Given the description of an element on the screen output the (x, y) to click on. 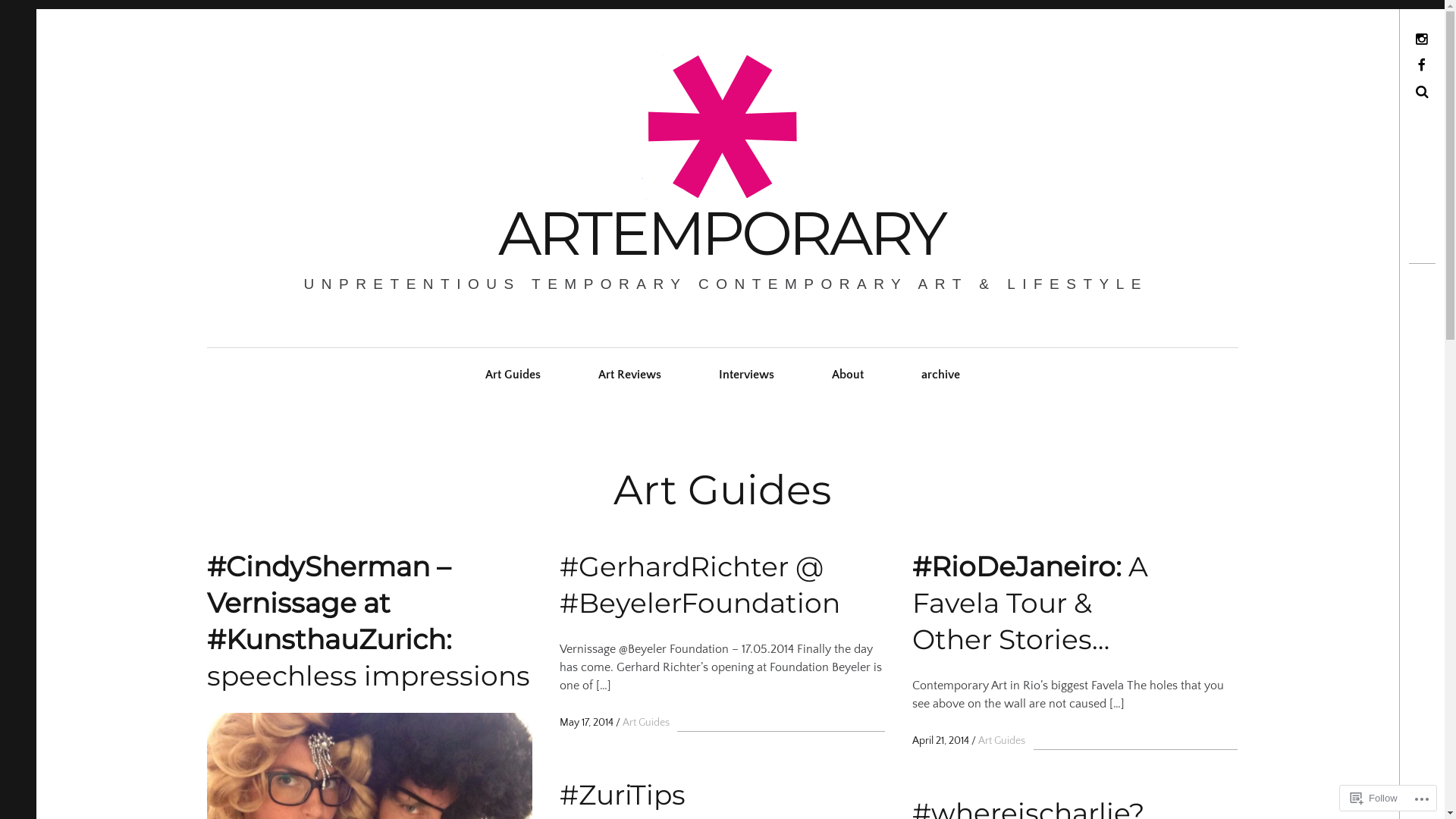
Facebook Element type: text (1371, 65)
Instagram Element type: text (1370, 39)
Search Element type: text (1376, 91)
Art Guides Element type: text (645, 722)
Interviews Element type: text (746, 375)
Art Guides Element type: text (512, 375)
Follow Element type: text (1373, 797)
ARTEMPORARY Element type: text (721, 232)
archive Element type: text (939, 375)
Art Reviews Element type: text (628, 375)
#GerhardRichter @ #BeyelerFoundation Element type: text (721, 585)
About Element type: text (846, 375)
#ZuriTips Element type: text (721, 795)
Search Element type: text (20, 16)
April 21, 2014 Element type: text (940, 740)
Art Guides Element type: text (1001, 740)
May 17, 2014 Element type: text (586, 722)
